Given the description of an element on the screen output the (x, y) to click on. 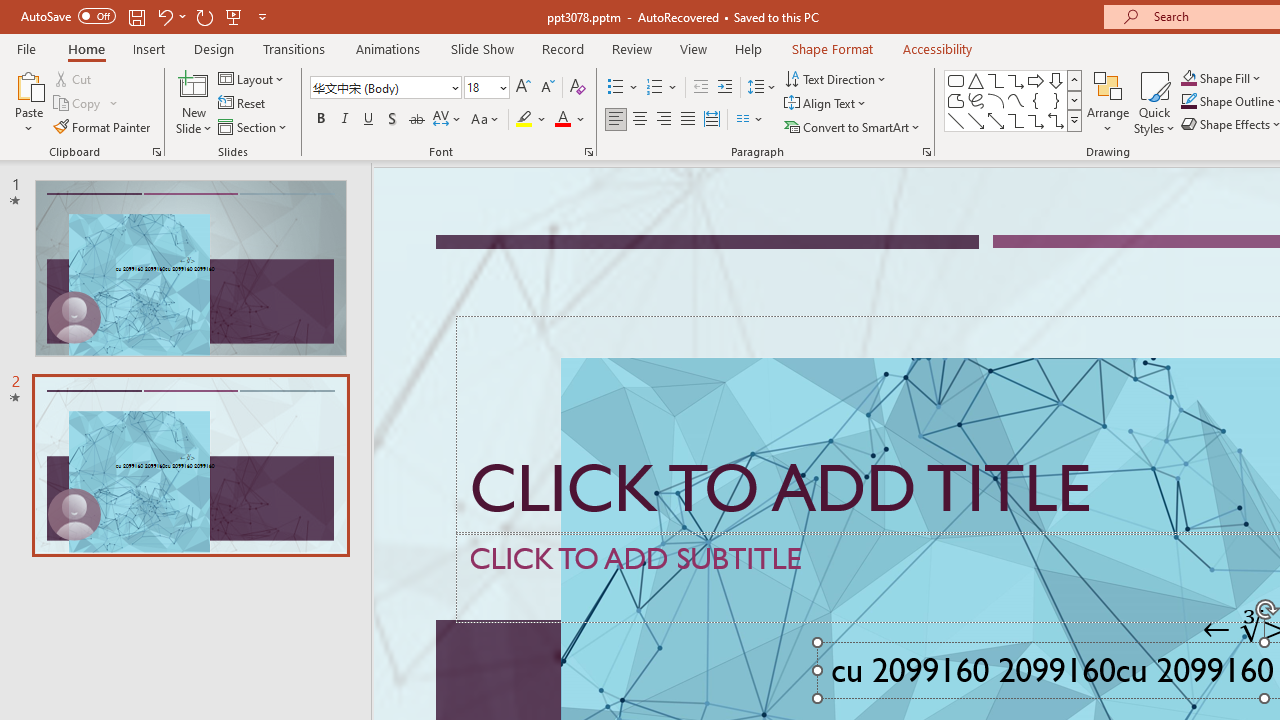
Connector: Elbow Double-Arrow (1055, 120)
